Given the description of an element on the screen output the (x, y) to click on. 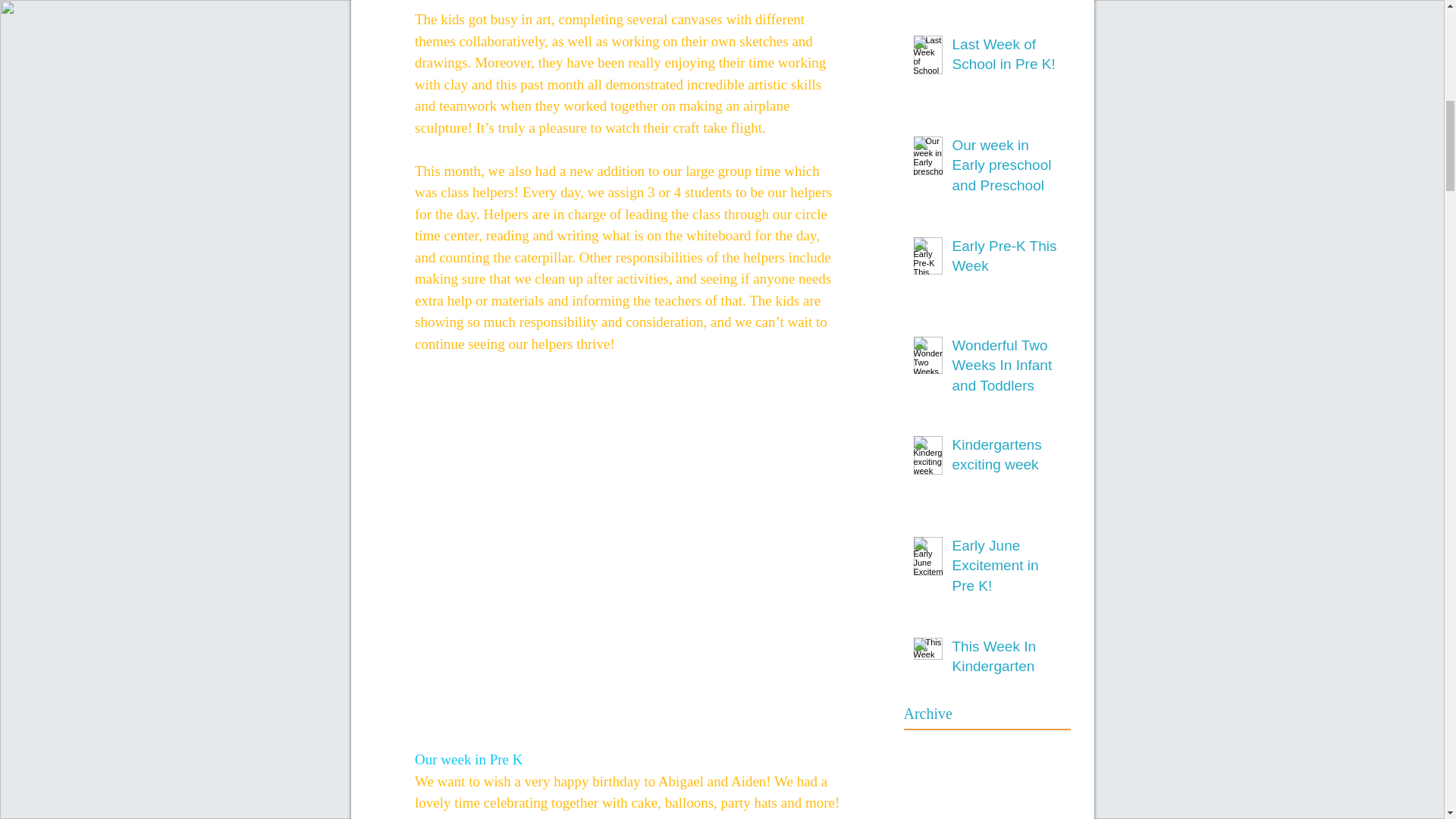
Wonderful Two Weeks In Infant and Toddlers (1006, 368)
Last Week of School in Pre K! (1006, 58)
Kindergartens exciting week (1006, 457)
Early June Excitement in Pre K! (1006, 569)
Early Pre-K This Week (1006, 259)
This Week In Kindergarten (1006, 660)
Our week in Early preschool and Preschool (1006, 168)
